Given the description of an element on the screen output the (x, y) to click on. 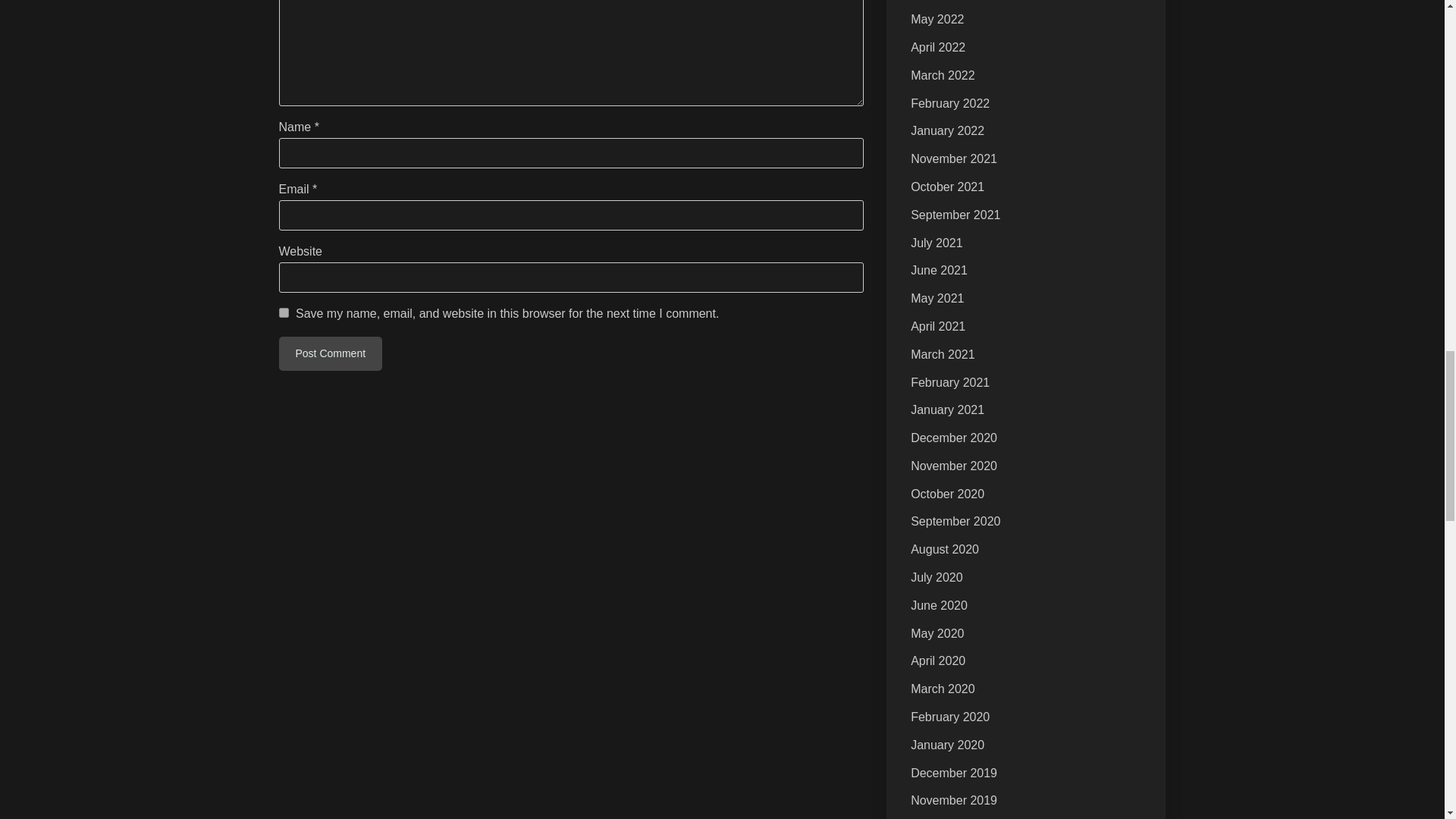
Post Comment (330, 353)
yes (283, 312)
Post Comment (330, 353)
